Given the description of an element on the screen output the (x, y) to click on. 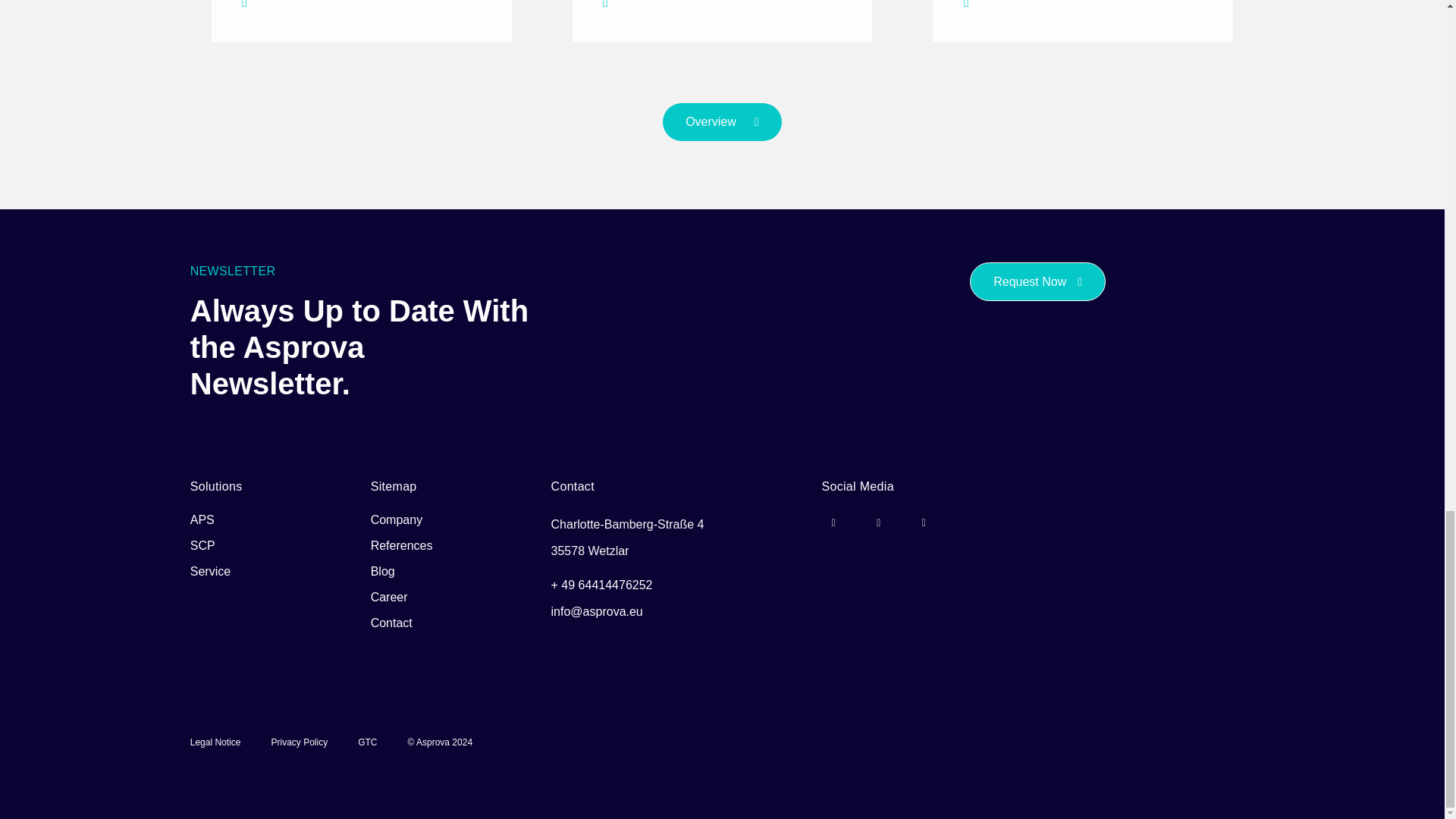
Overview (721, 121)
SCP (202, 545)
Company (396, 520)
Request Now (1037, 281)
APS (202, 520)
Service (210, 571)
References (401, 545)
